Given the description of an element on the screen output the (x, y) to click on. 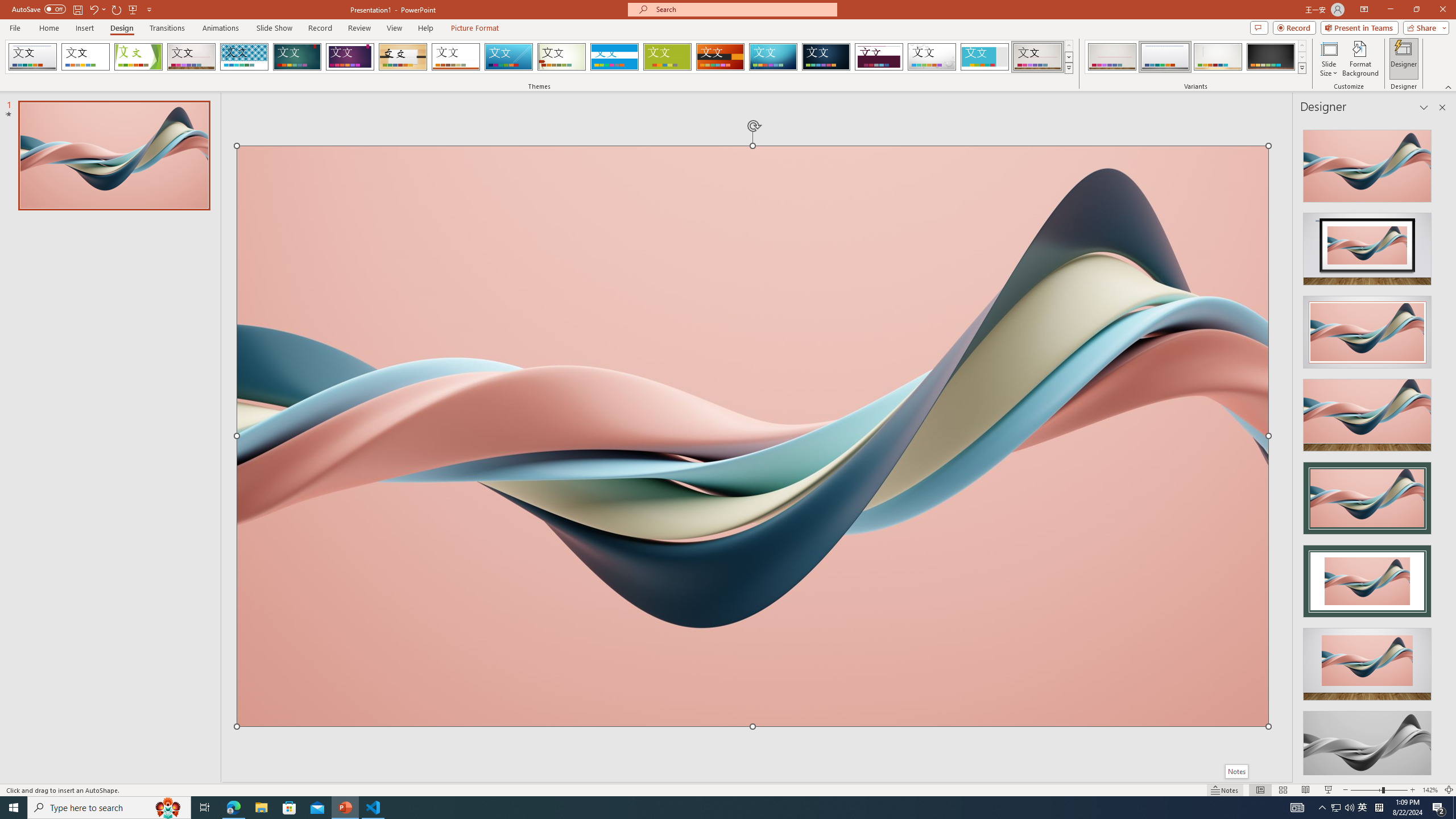
Ion (296, 56)
Class: NetUIScrollBar (1441, 447)
Slice (508, 56)
Picture Format (475, 28)
Droplet (931, 56)
